Given the description of an element on the screen output the (x, y) to click on. 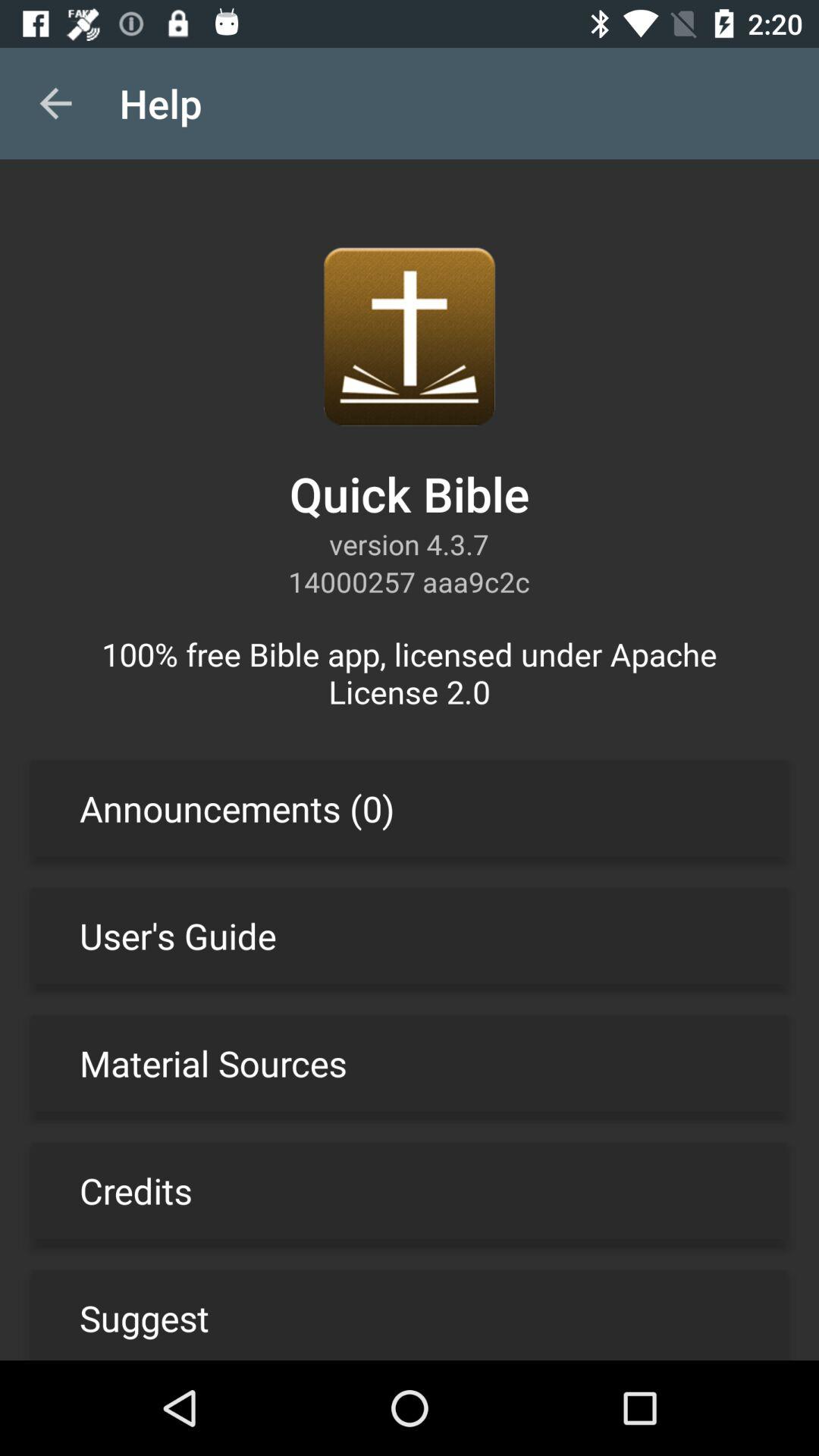
open item next to the help app (55, 103)
